Given the description of an element on the screen output the (x, y) to click on. 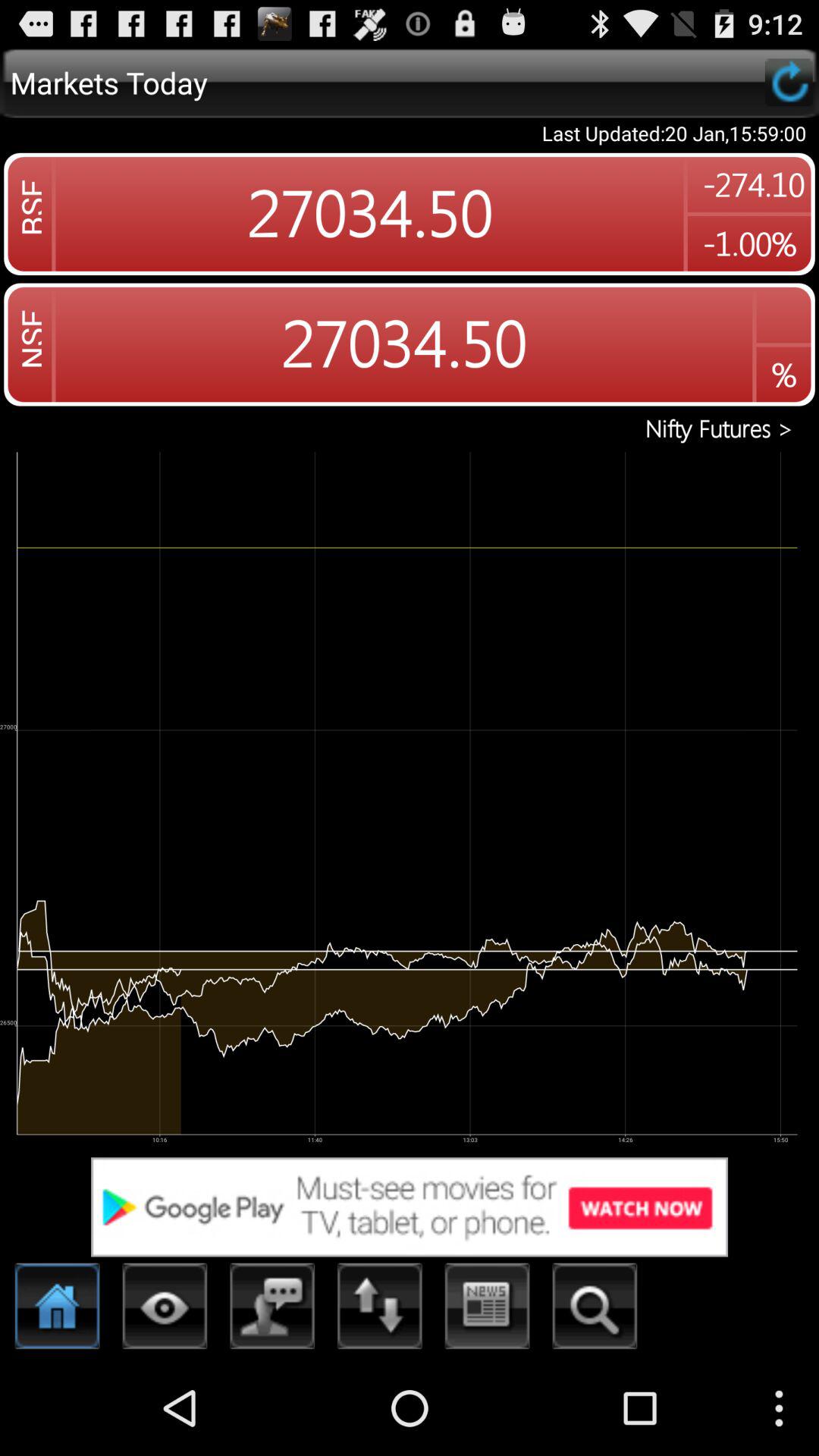
toggle up or down (379, 1310)
